Given the description of an element on the screen output the (x, y) to click on. 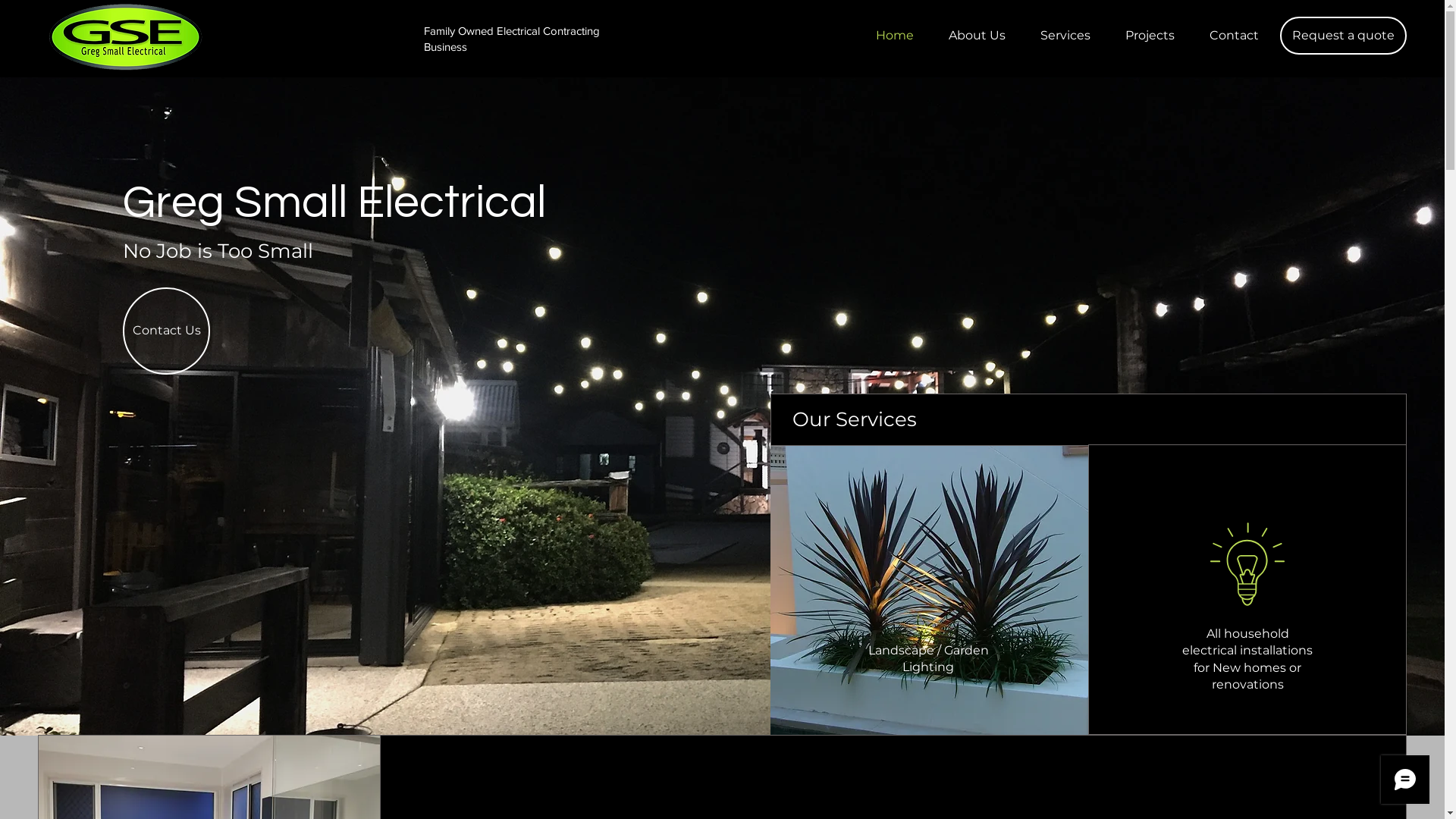
Contact Us Element type: text (166, 330)
Services Element type: text (1064, 35)
Request a quote Element type: text (1343, 35)
Projects Element type: text (1149, 35)
Contact Element type: text (1233, 35)
Home Element type: text (894, 35)
About Us Element type: text (976, 35)
